Given the description of an element on the screen output the (x, y) to click on. 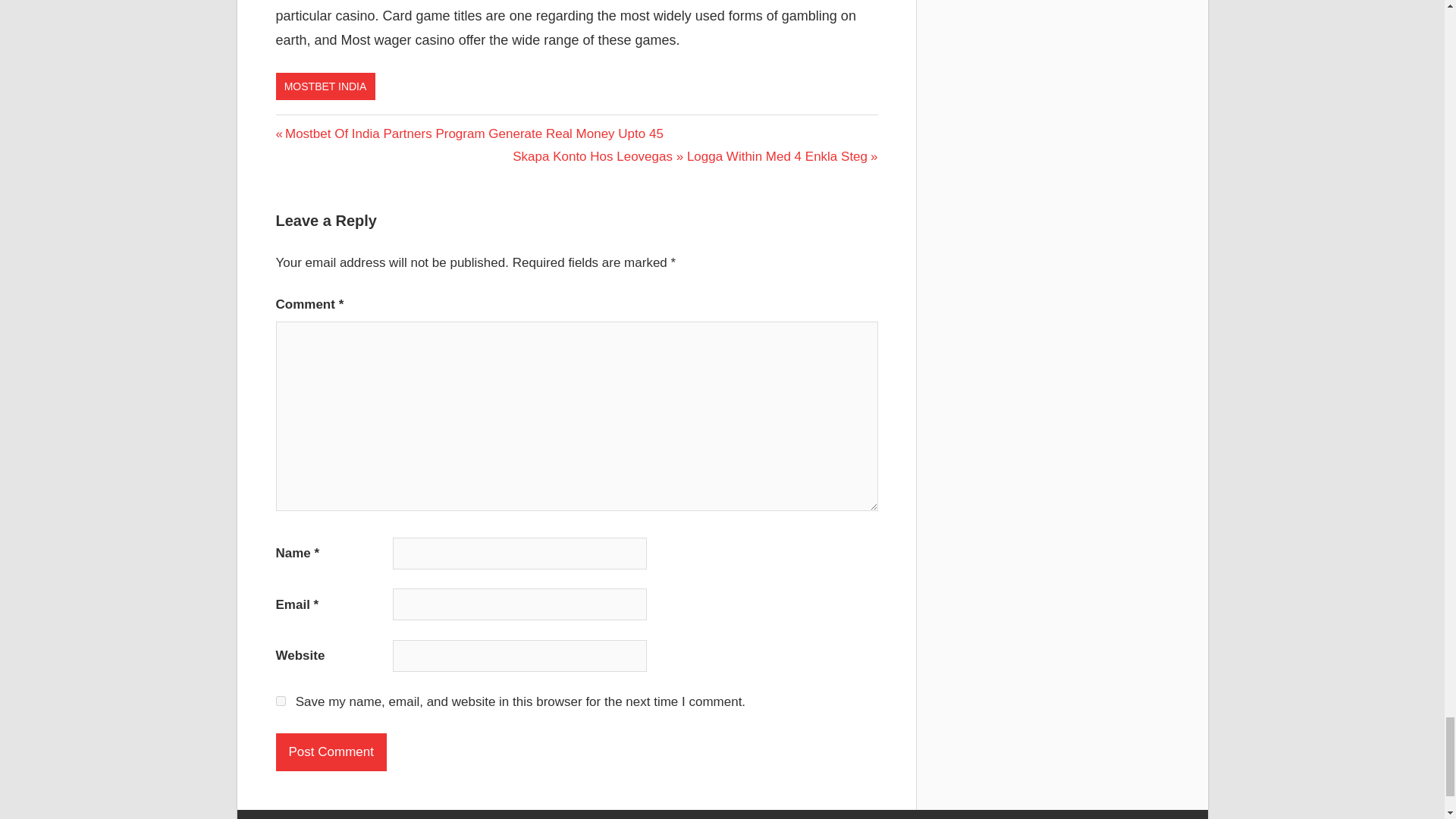
Post Comment (331, 752)
yes (280, 700)
